Given the description of an element on the screen output the (x, y) to click on. 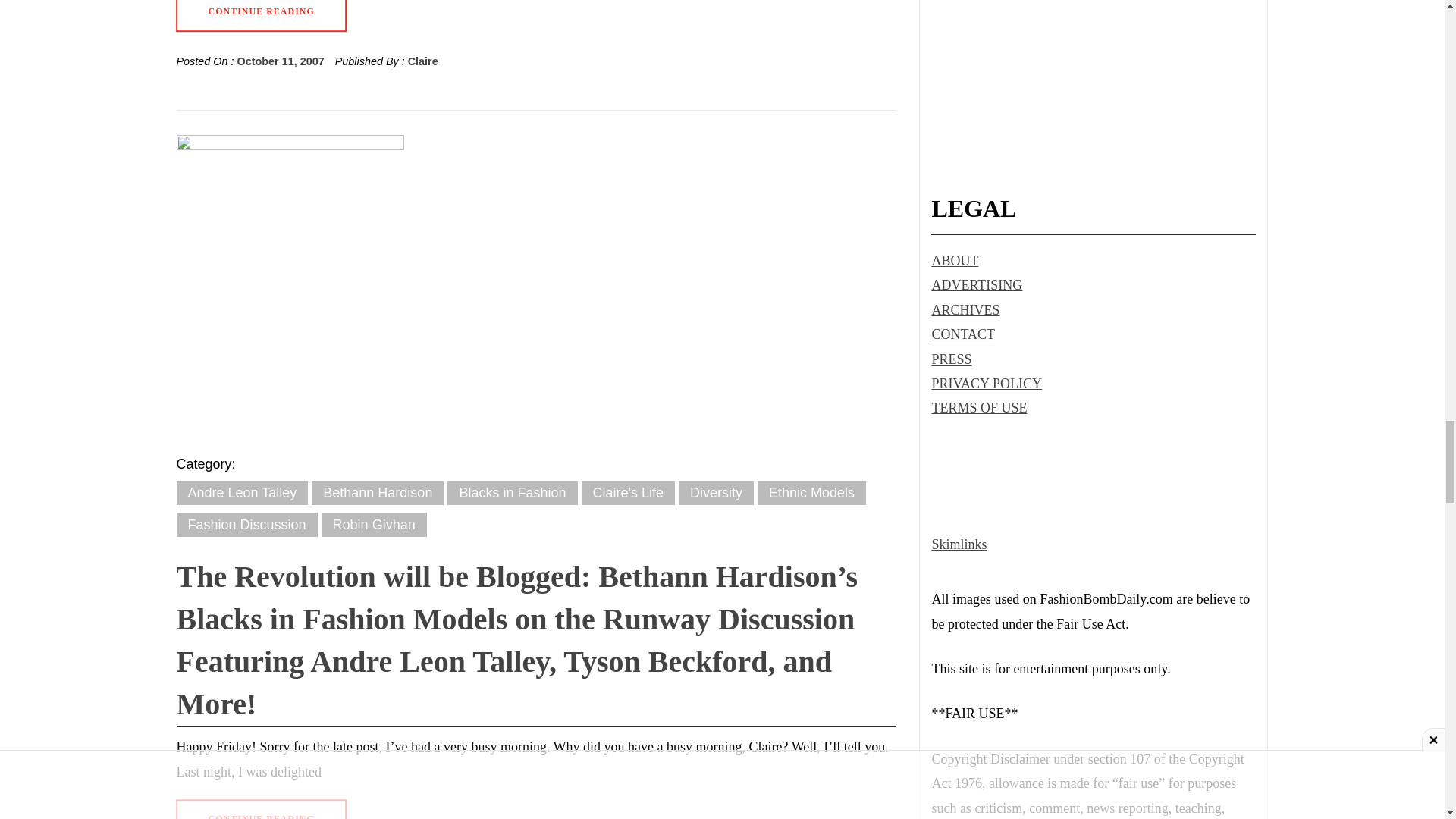
3rd party ad content (1093, 77)
